Given the description of an element on the screen output the (x, y) to click on. 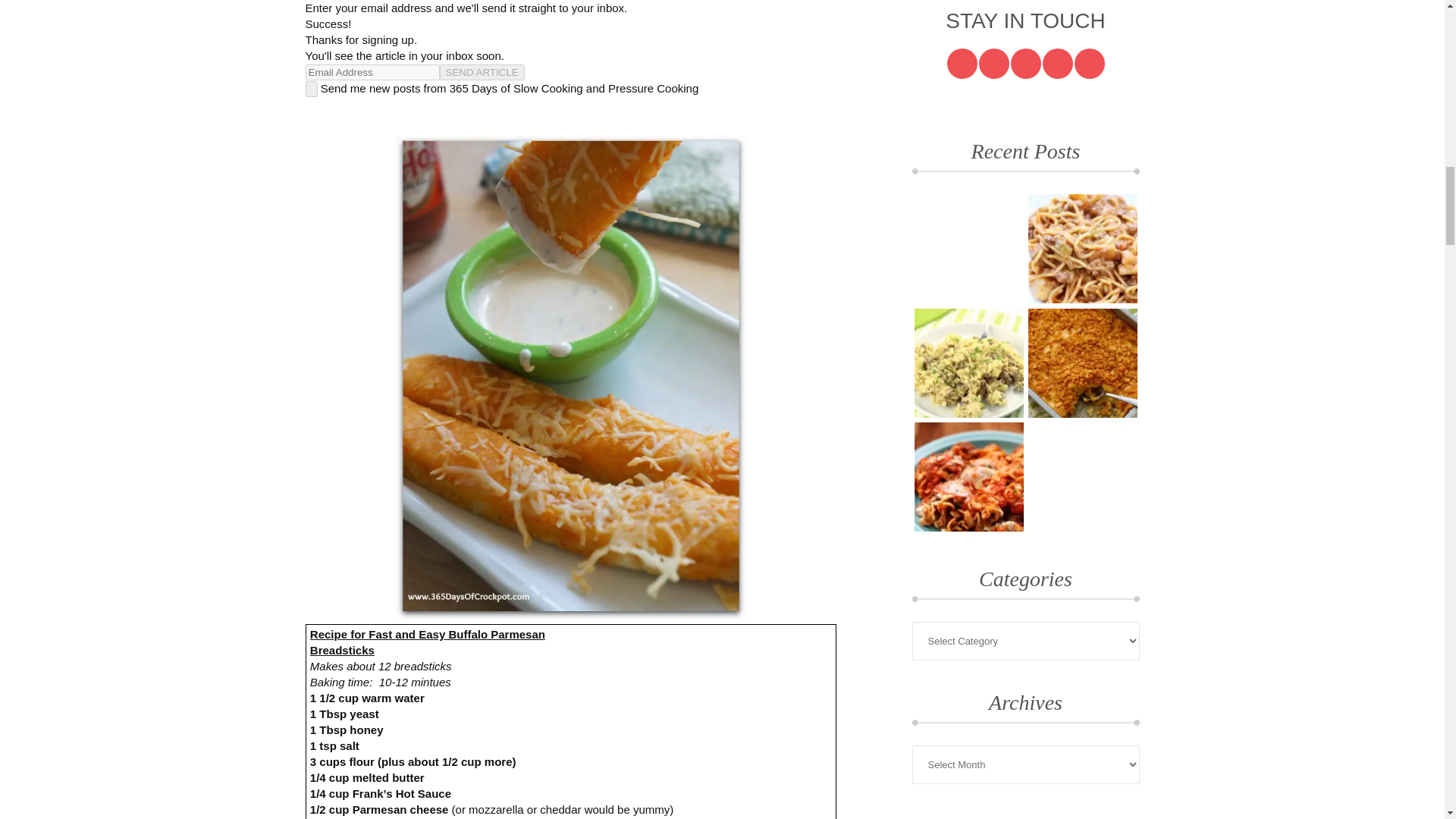
Jailhouse Casserole (968, 362)
Amish Washday Casserole (1082, 248)
Humble Casserole (968, 248)
Old Fashioned Company Casserole (968, 476)
Championship Chicken (1082, 476)
